Given the description of an element on the screen output the (x, y) to click on. 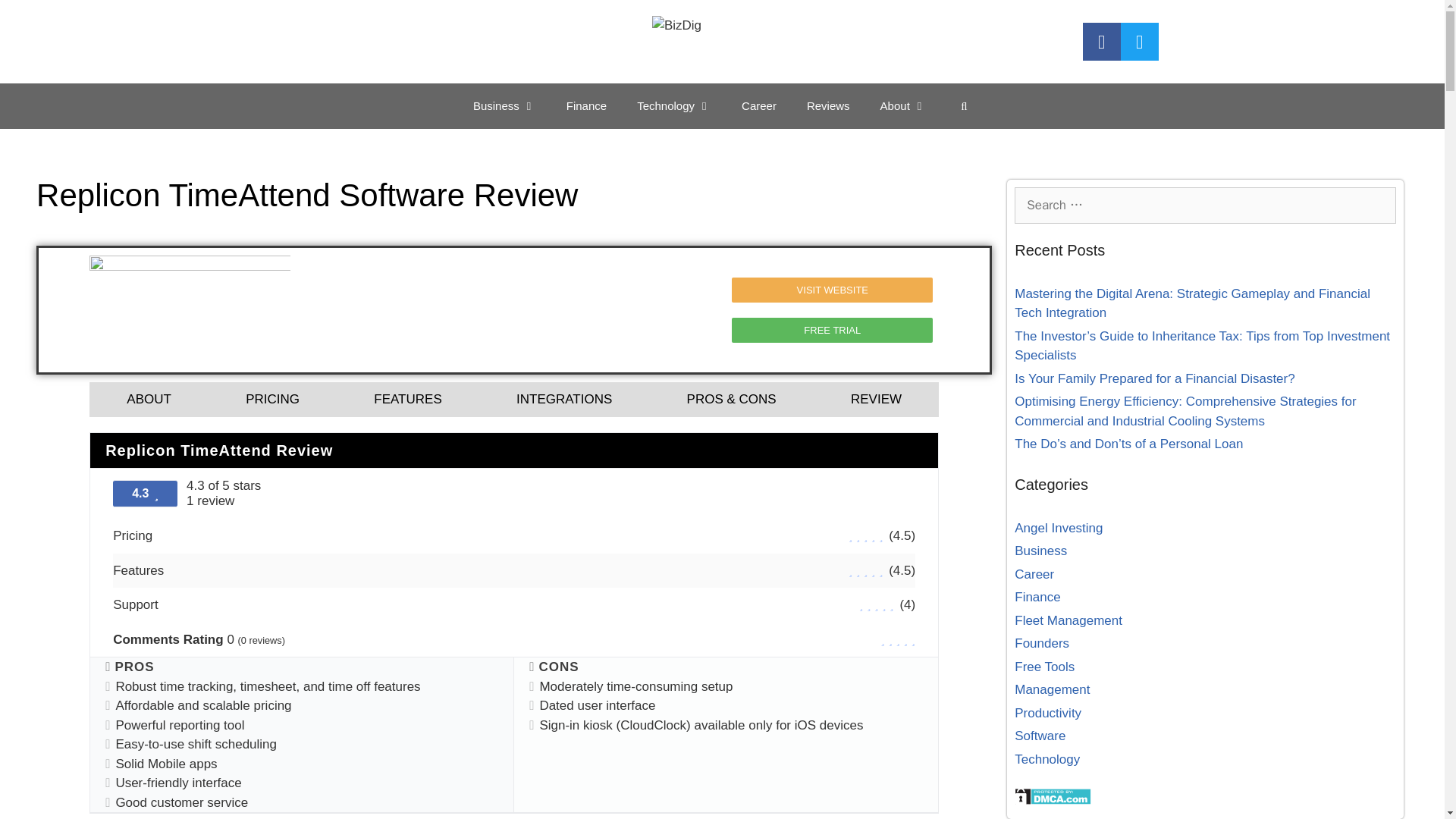
Finance (586, 105)
About (903, 105)
FEATURES (407, 399)
FREE TRIAL (832, 330)
ABOUT (148, 399)
VISIT WEBSITE (832, 289)
INTEGRATIONS (564, 399)
Reviews (828, 105)
Business (504, 105)
Technology (673, 105)
